Given the description of an element on the screen output the (x, y) to click on. 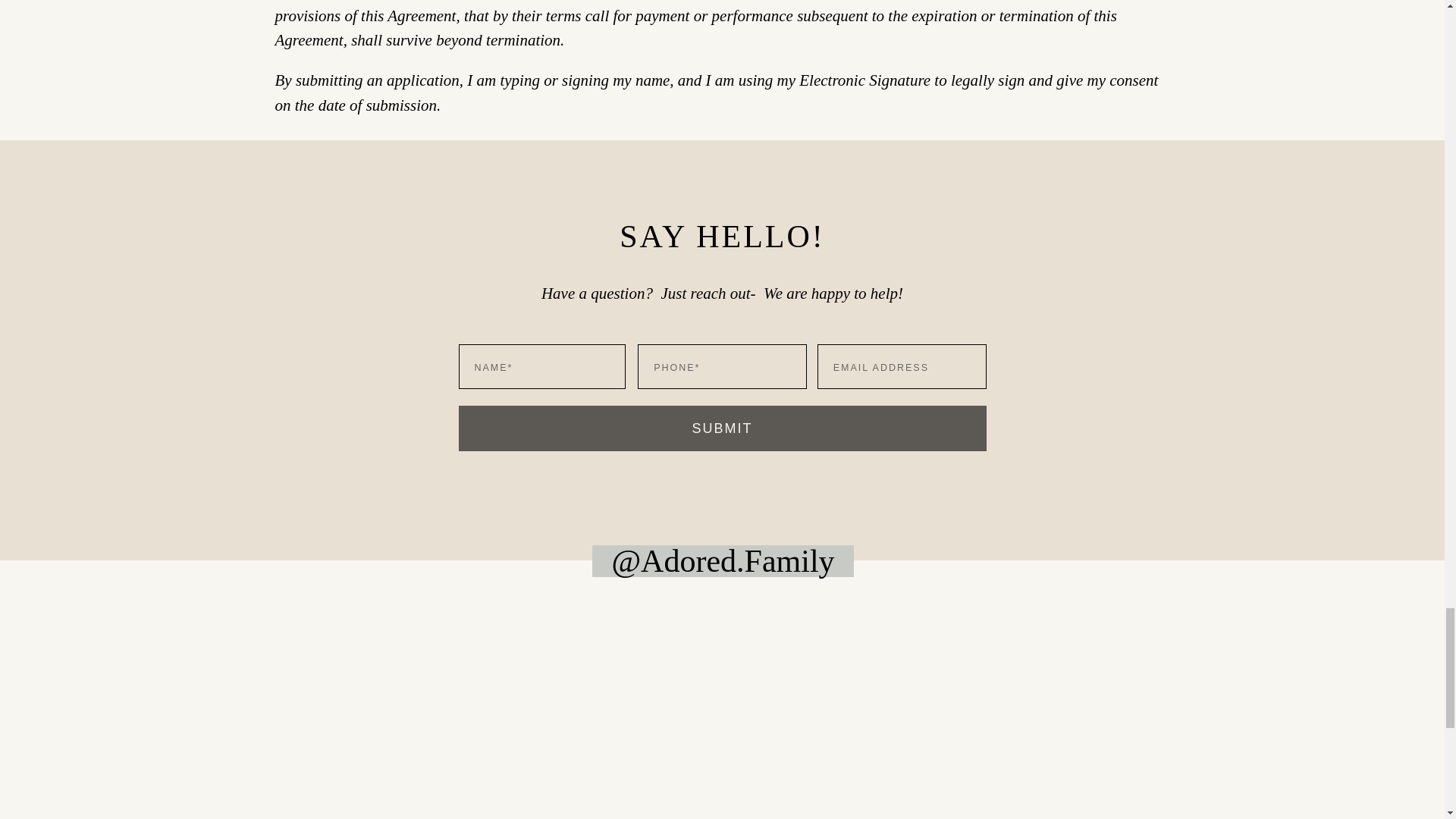
SUBMIT (721, 428)
SUBMIT (721, 428)
